Given the description of an element on the screen output the (x, y) to click on. 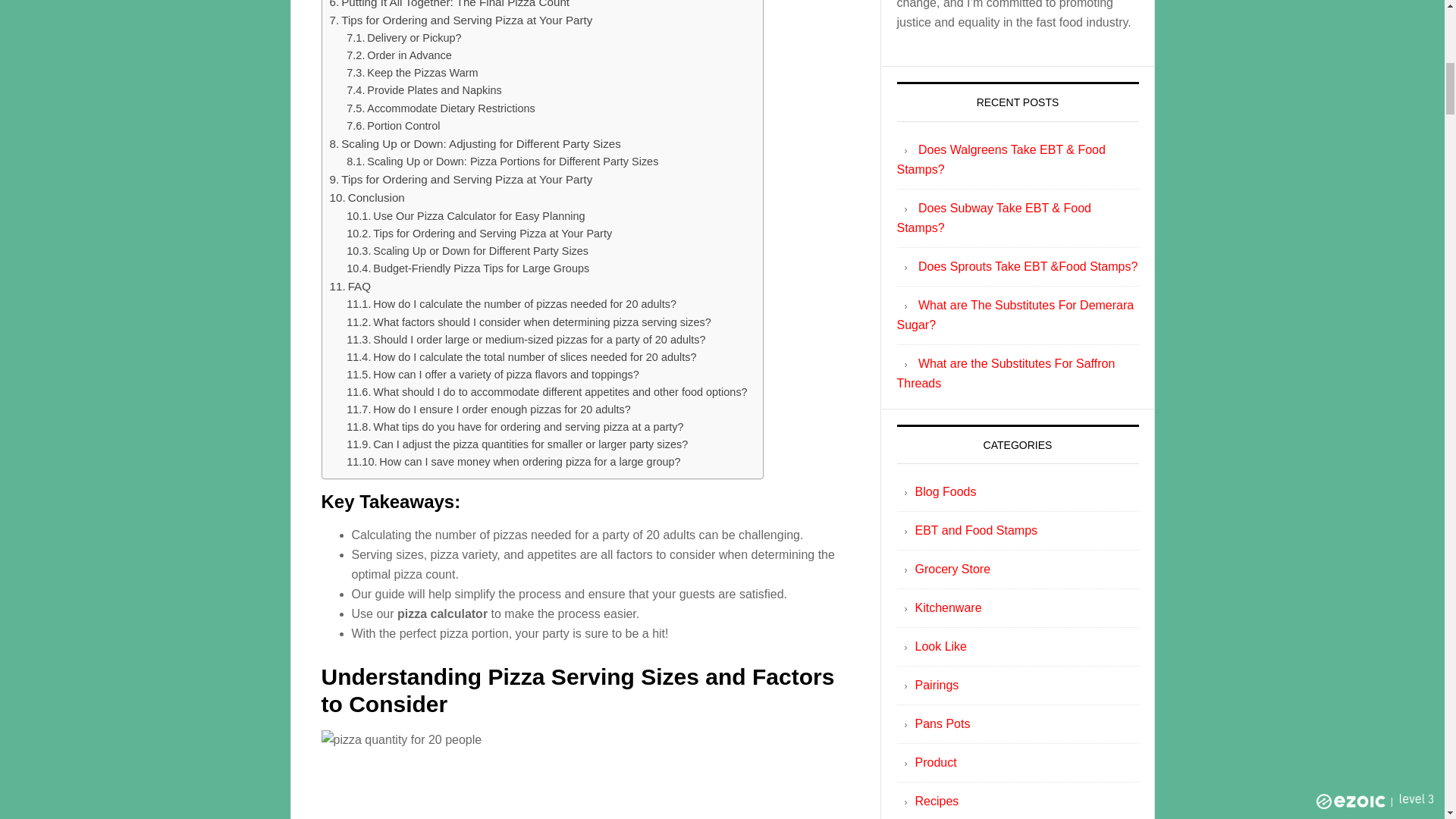
Order in Advance (398, 55)
Scaling Up or Down for Different Party Sizes (467, 251)
Scaling Up or Down: Pizza Portions for Different Party Sizes (502, 161)
FAQ (350, 286)
Order in Advance (398, 55)
Tips for Ordering and Serving Pizza at Your Party (460, 179)
Putting It All Together: The Final Pizza Count (449, 5)
Conclusion (366, 198)
Tips for Ordering and Serving Pizza at Your Party (478, 233)
Provide Plates and Napkins (423, 90)
Keep the Pizzas Warm (411, 72)
Tips for Ordering and Serving Pizza at Your Party (460, 20)
Provide Plates and Napkins (423, 90)
